Given the description of an element on the screen output the (x, y) to click on. 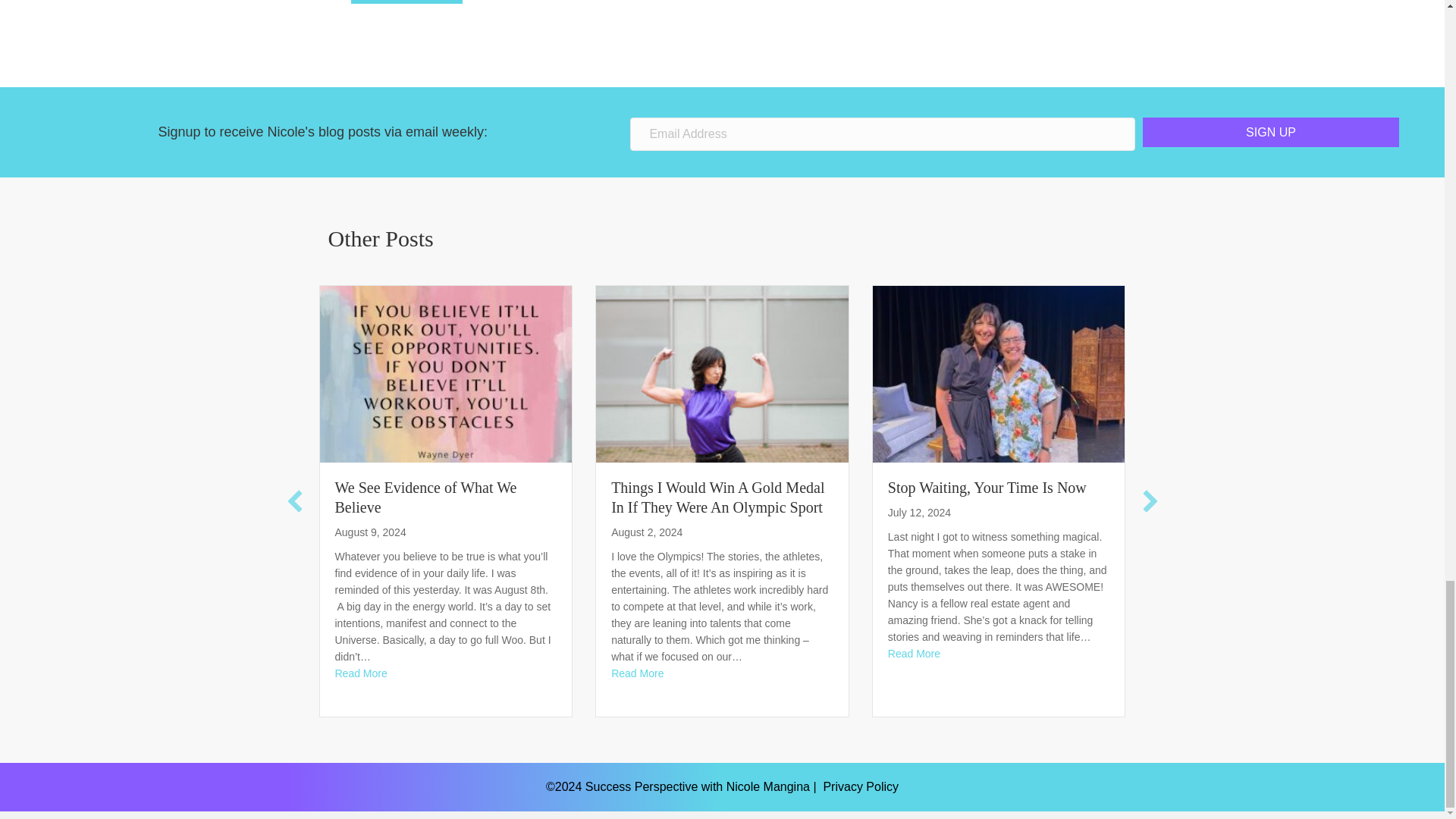
SIGN UP (1270, 132)
Submit Comment (406, 2)
Submit Comment (406, 2)
Read More (360, 673)
We See Evidence of What We Believe (425, 497)
